Given the description of an element on the screen output the (x, y) to click on. 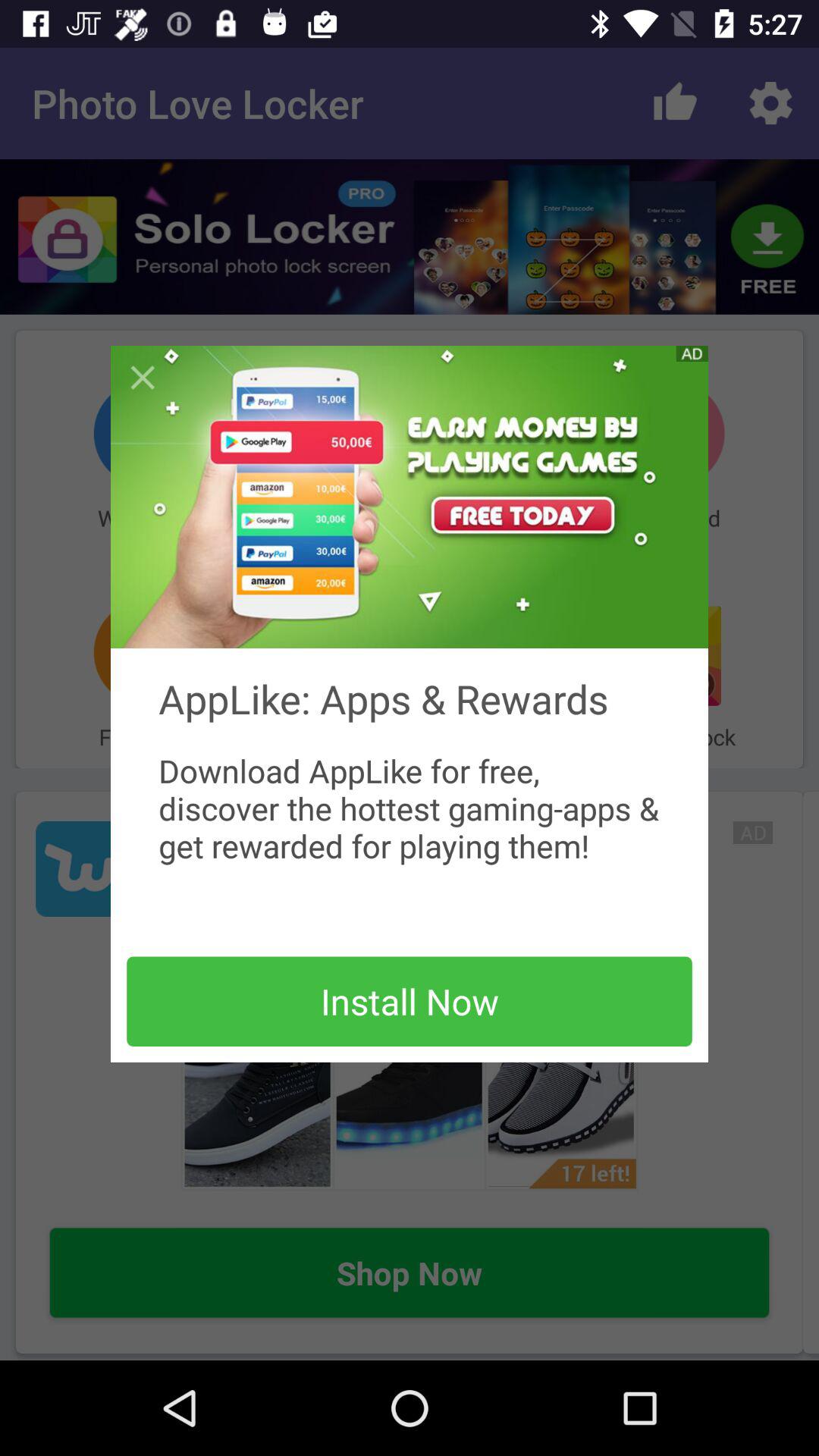
access advertising (409, 496)
